Given the description of an element on the screen output the (x, y) to click on. 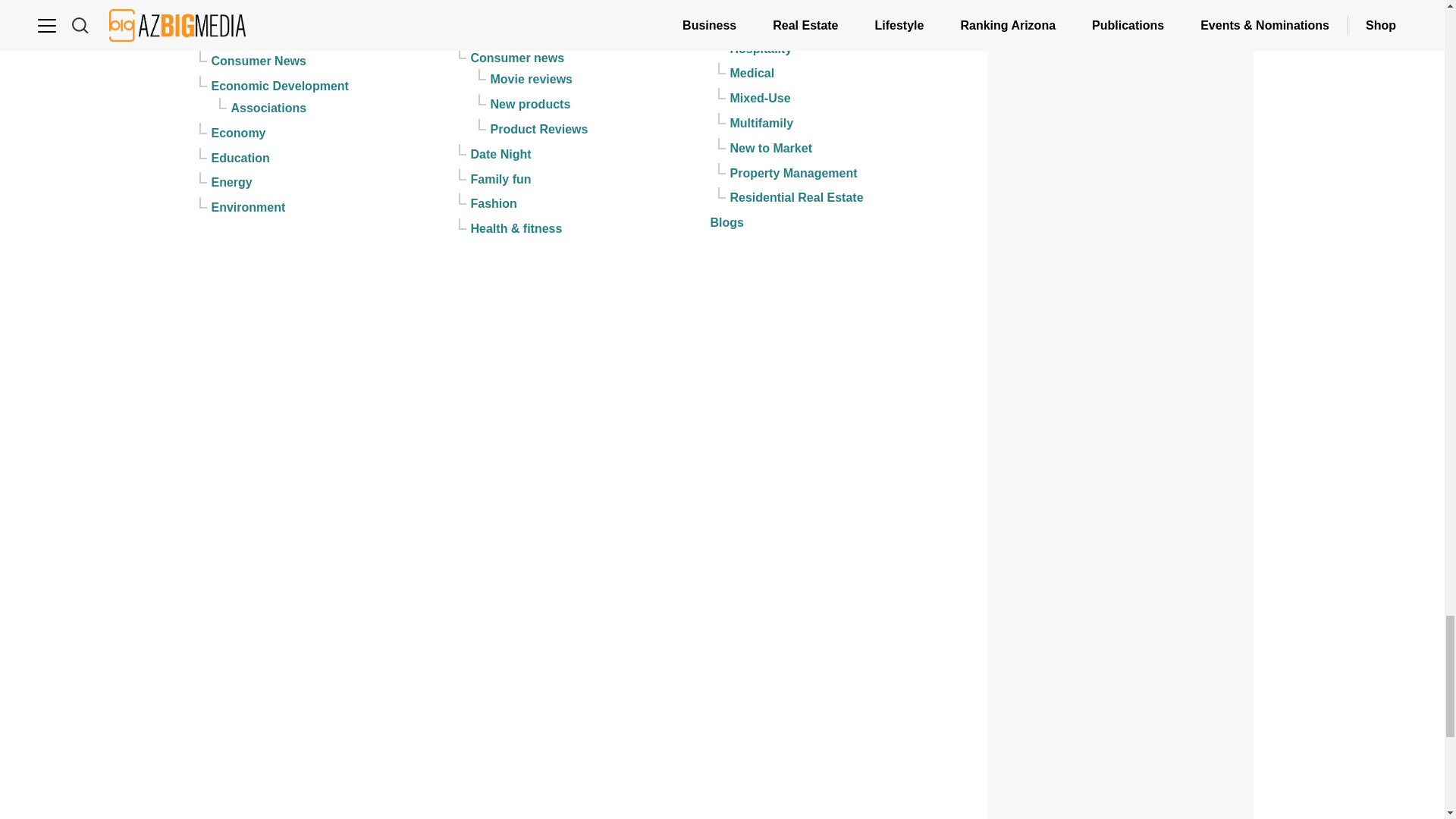
3rd party ad content (1120, 15)
3rd party ad content (1120, 533)
3rd party ad content (1120, 733)
